Given the description of an element on the screen output the (x, y) to click on. 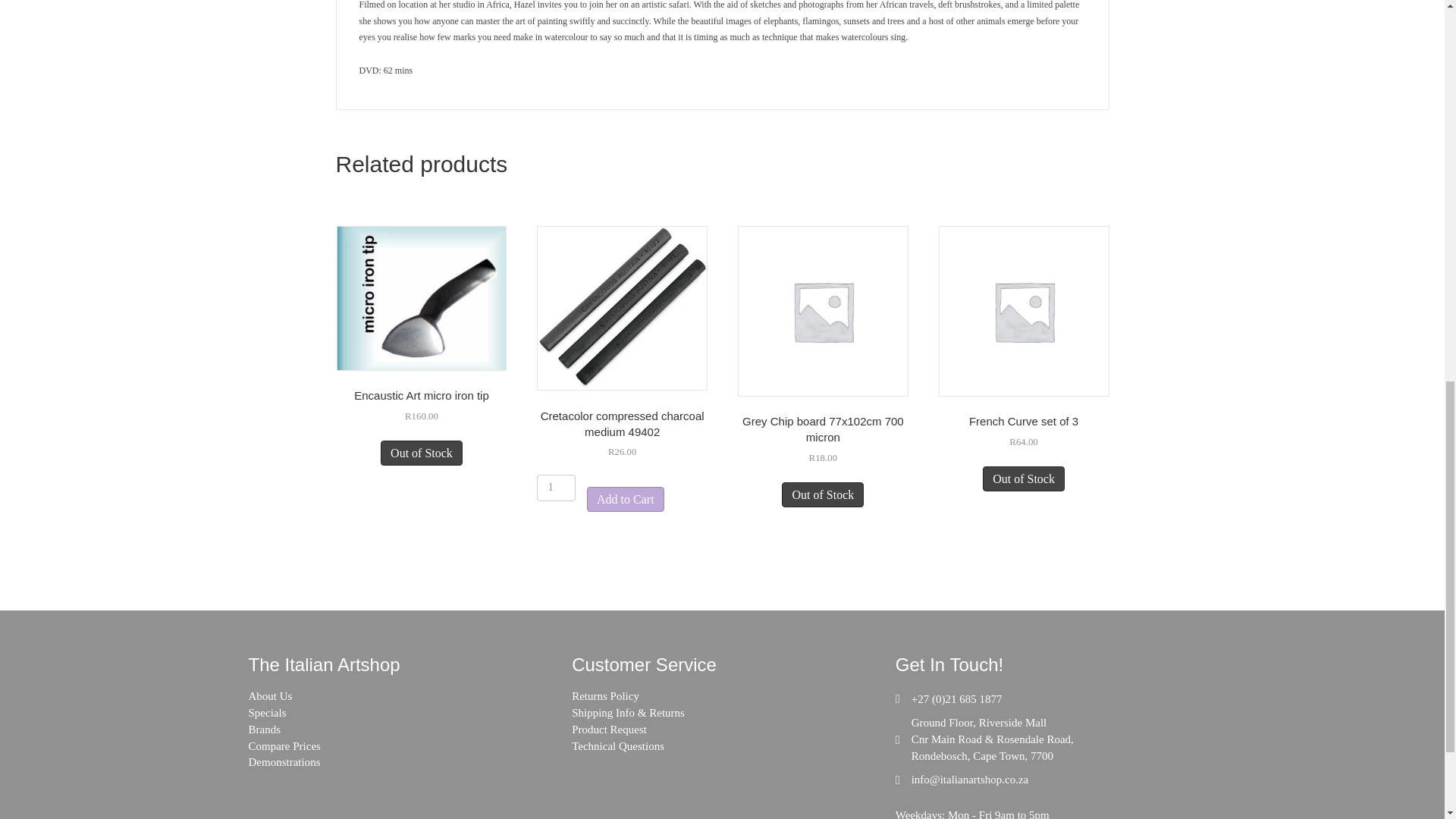
1 (556, 488)
